Given the description of an element on the screen output the (x, y) to click on. 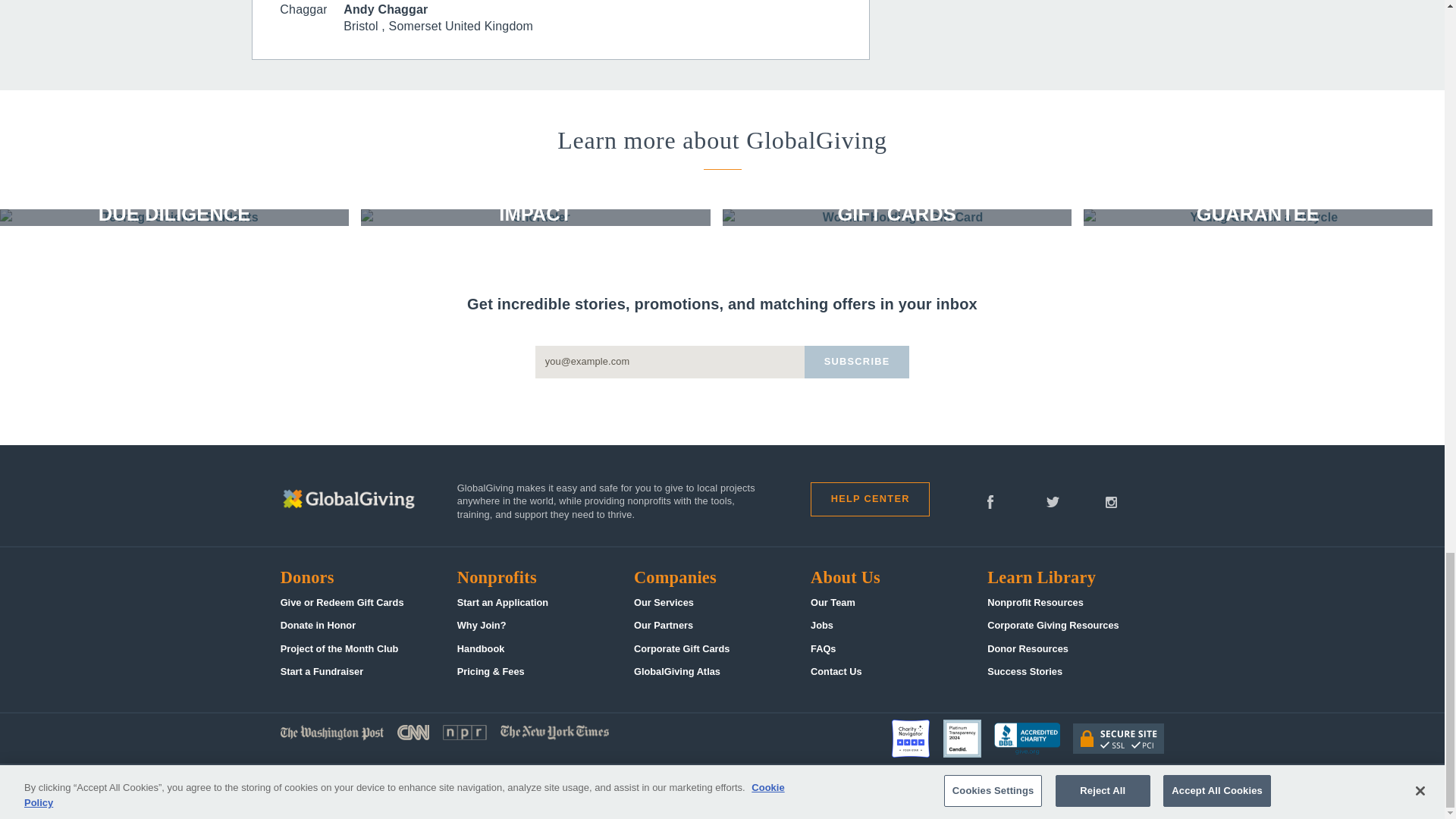
Choose your currency (913, 791)
Email address (670, 361)
